Given the description of an element on the screen output the (x, y) to click on. 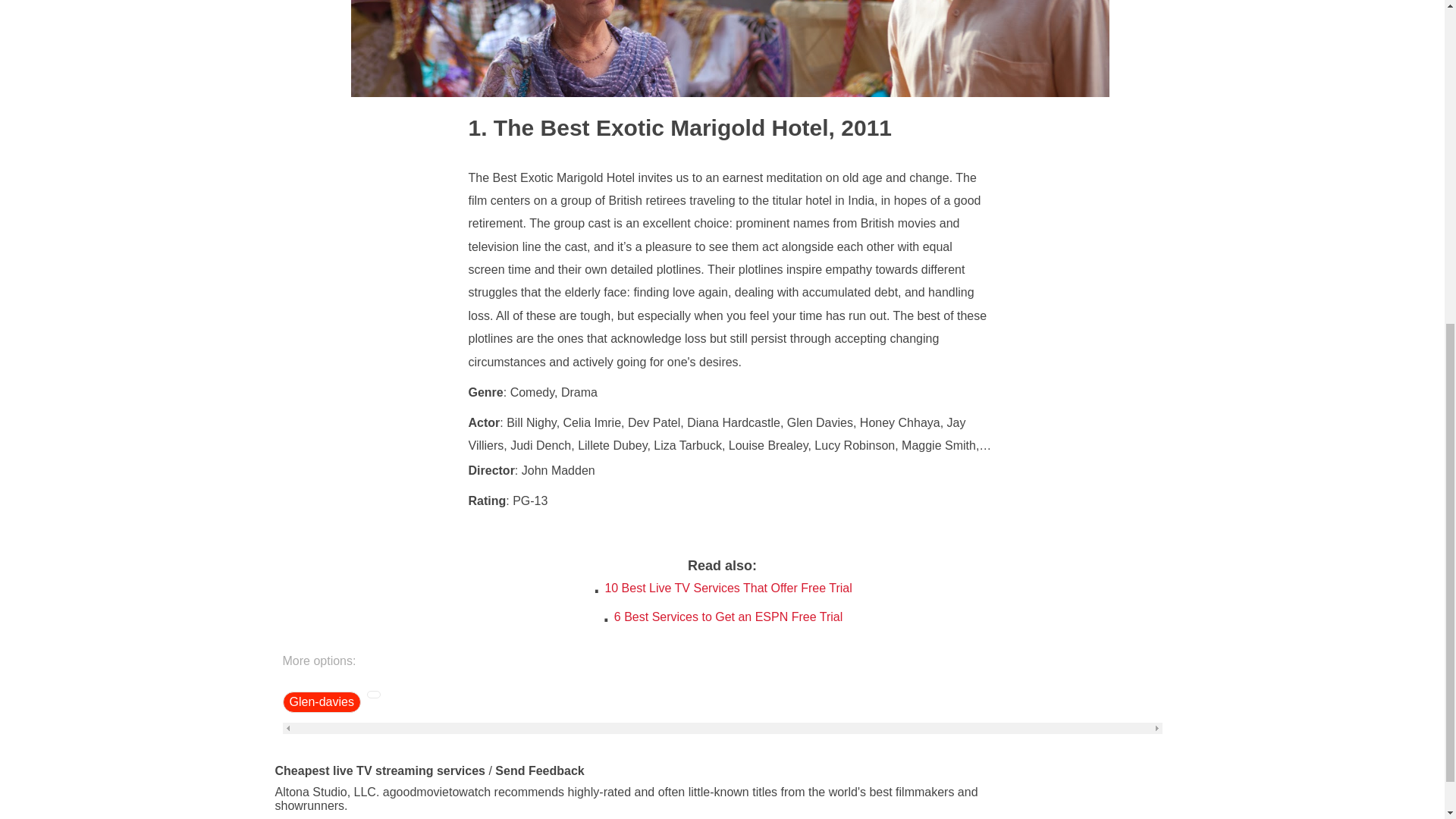
The Best Exotic Marigold Hotel (648, 126)
